Given the description of an element on the screen output the (x, y) to click on. 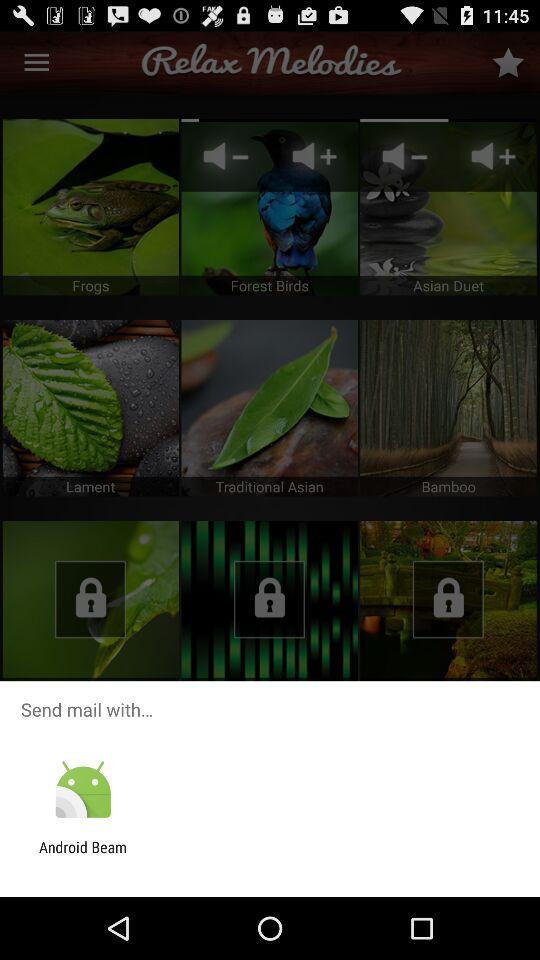
flip until the android beam app (83, 856)
